Given the description of an element on the screen output the (x, y) to click on. 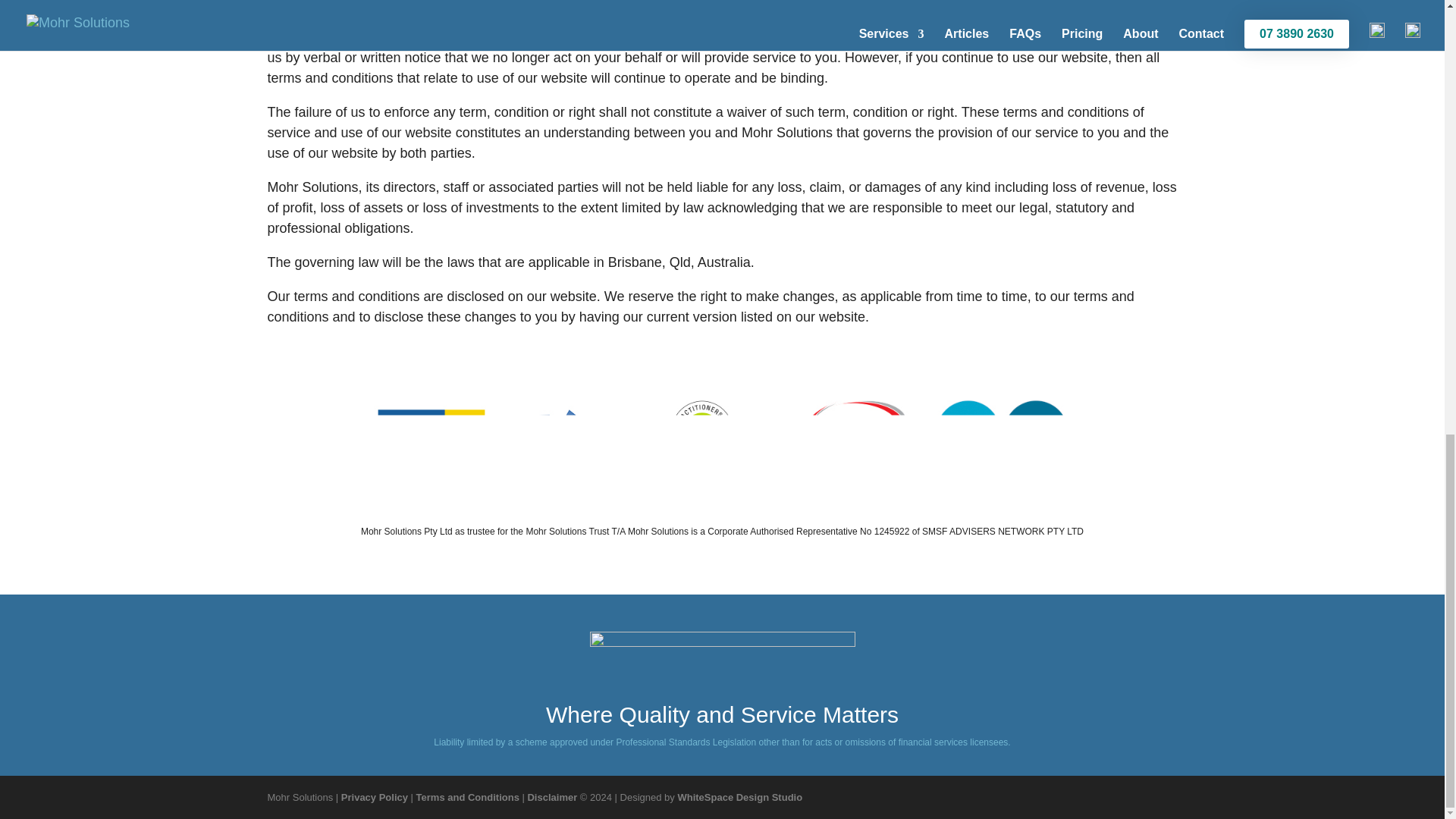
Privacy Policy (373, 797)
Disclaimer (551, 797)
WhiteSpace Design Studio (739, 797)
Terms and Conditions (467, 797)
